Given the description of an element on the screen output the (x, y) to click on. 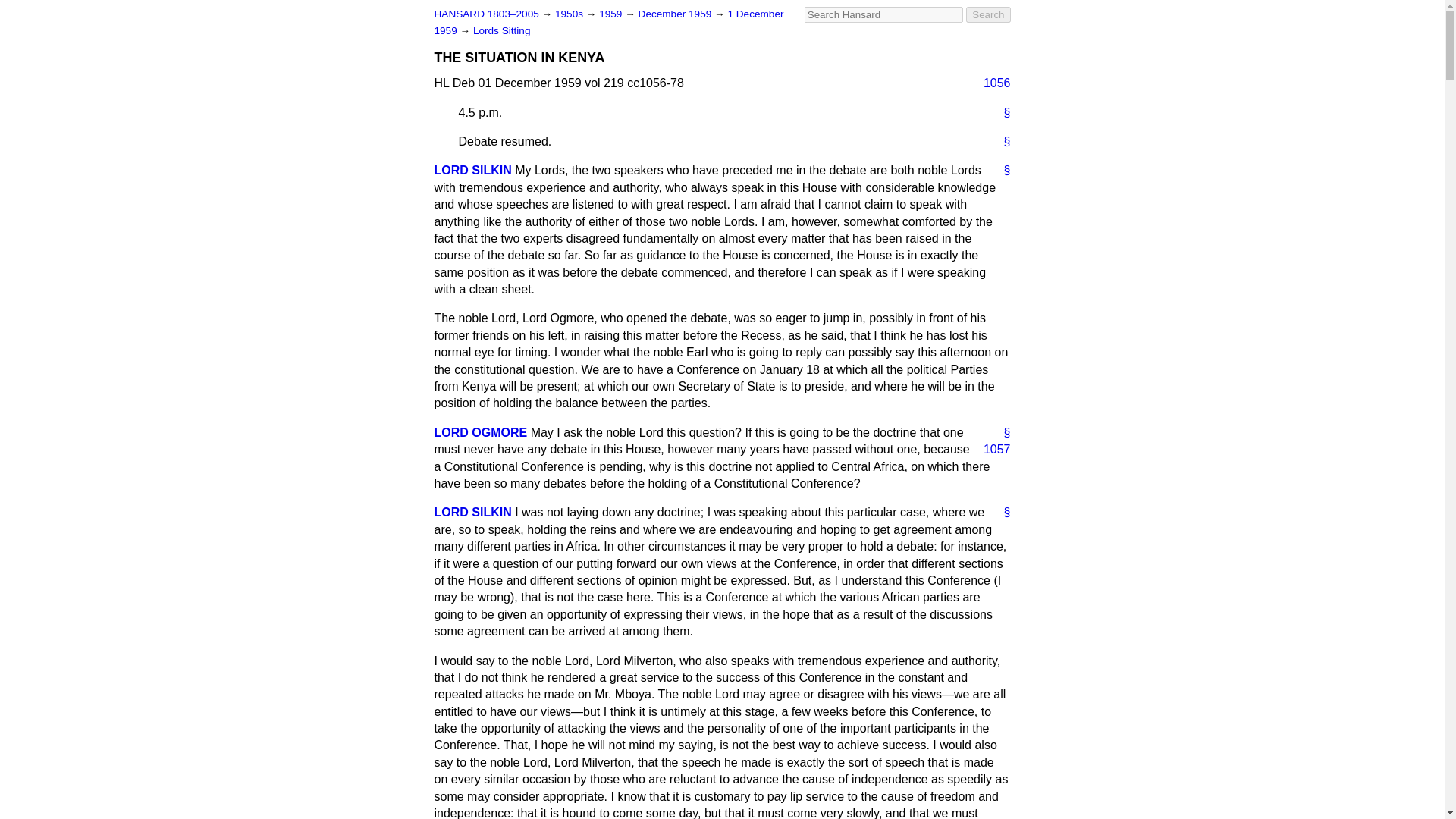
Link to this speech by Mr Lewis Silkin (1000, 170)
1950s (570, 13)
1057 (990, 449)
1056 (990, 83)
1959 (611, 13)
Lieut-Colonel David Rees-Williams (480, 431)
Link to this contribution (1000, 141)
1 December 1959 (608, 22)
Access key: S (883, 14)
Lords Sitting (502, 30)
